Given the description of an element on the screen output the (x, y) to click on. 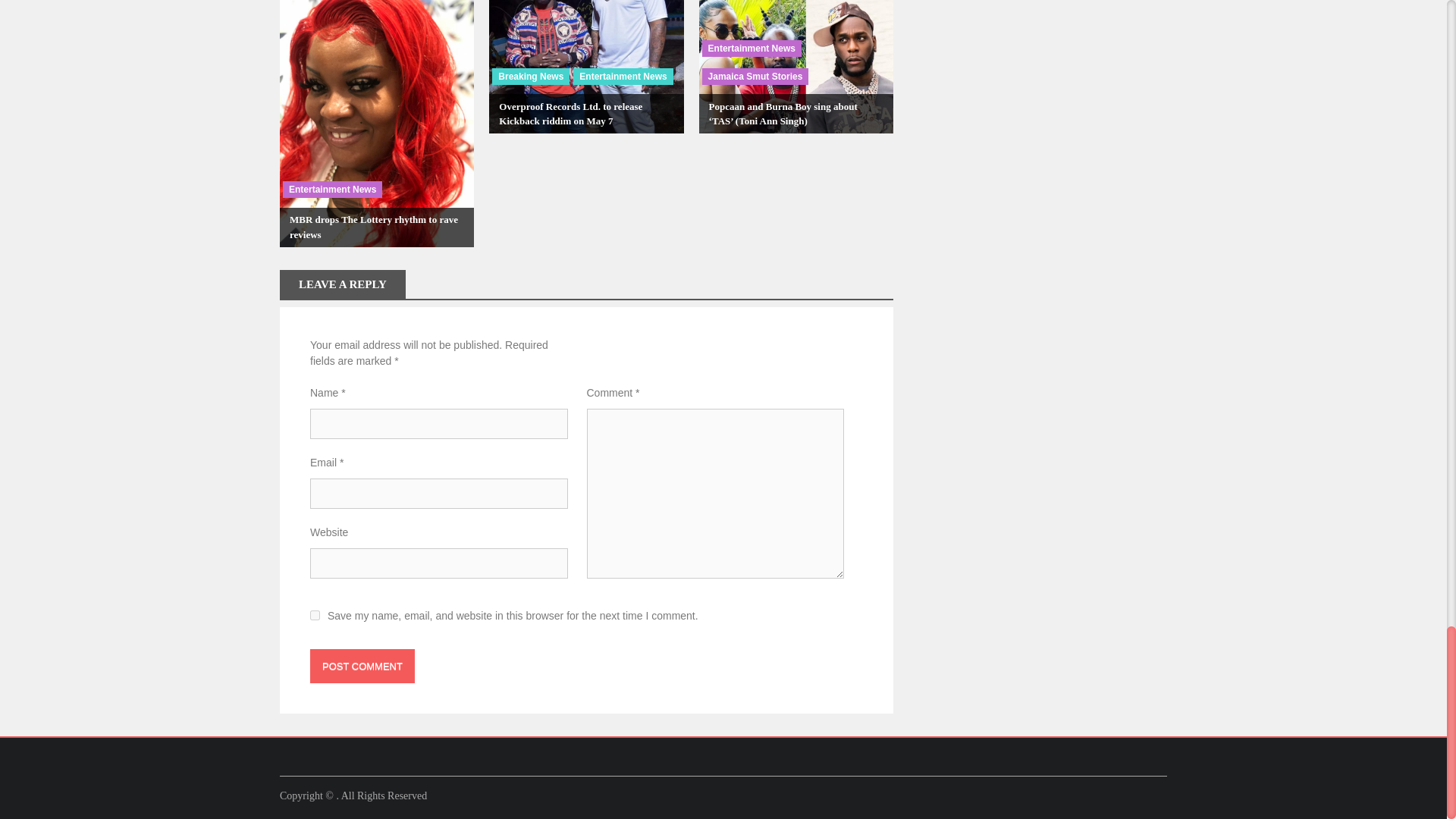
Breaking News (530, 76)
Entertainment News (331, 189)
Overproof Records Ltd. to release Kickback riddim on May 7 (570, 113)
Entertainment News (622, 76)
yes (315, 614)
Post Comment (362, 666)
MBR drops The Lottery rhythm to rave reviews (373, 226)
